Given the description of an element on the screen output the (x, y) to click on. 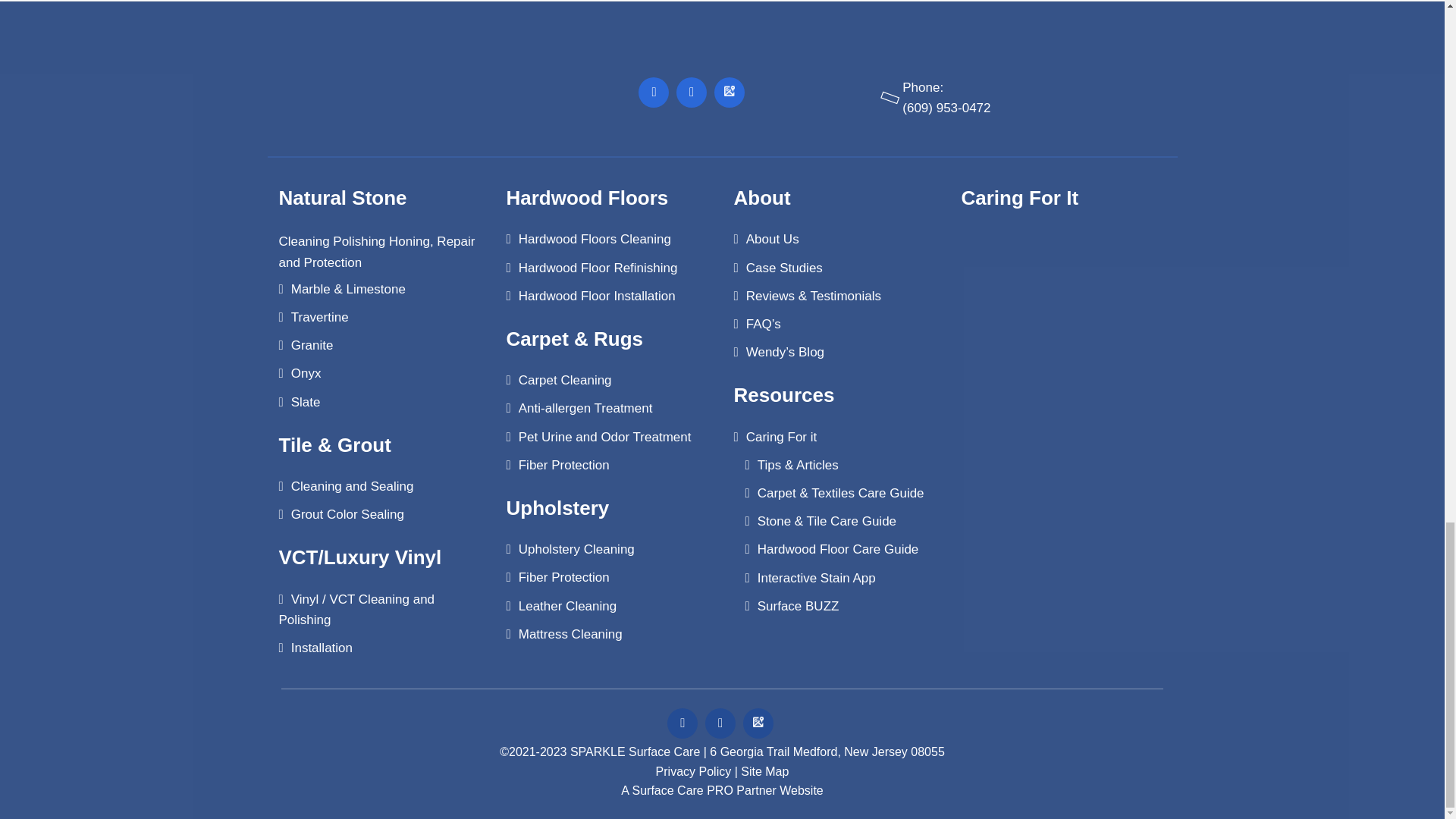
Facebook (653, 91)
Surface BUZZ (1012, 384)
Caring For It  (1115, 282)
Google Map (729, 91)
Yelp (691, 91)
Articles (1012, 281)
